Given the description of an element on the screen output the (x, y) to click on. 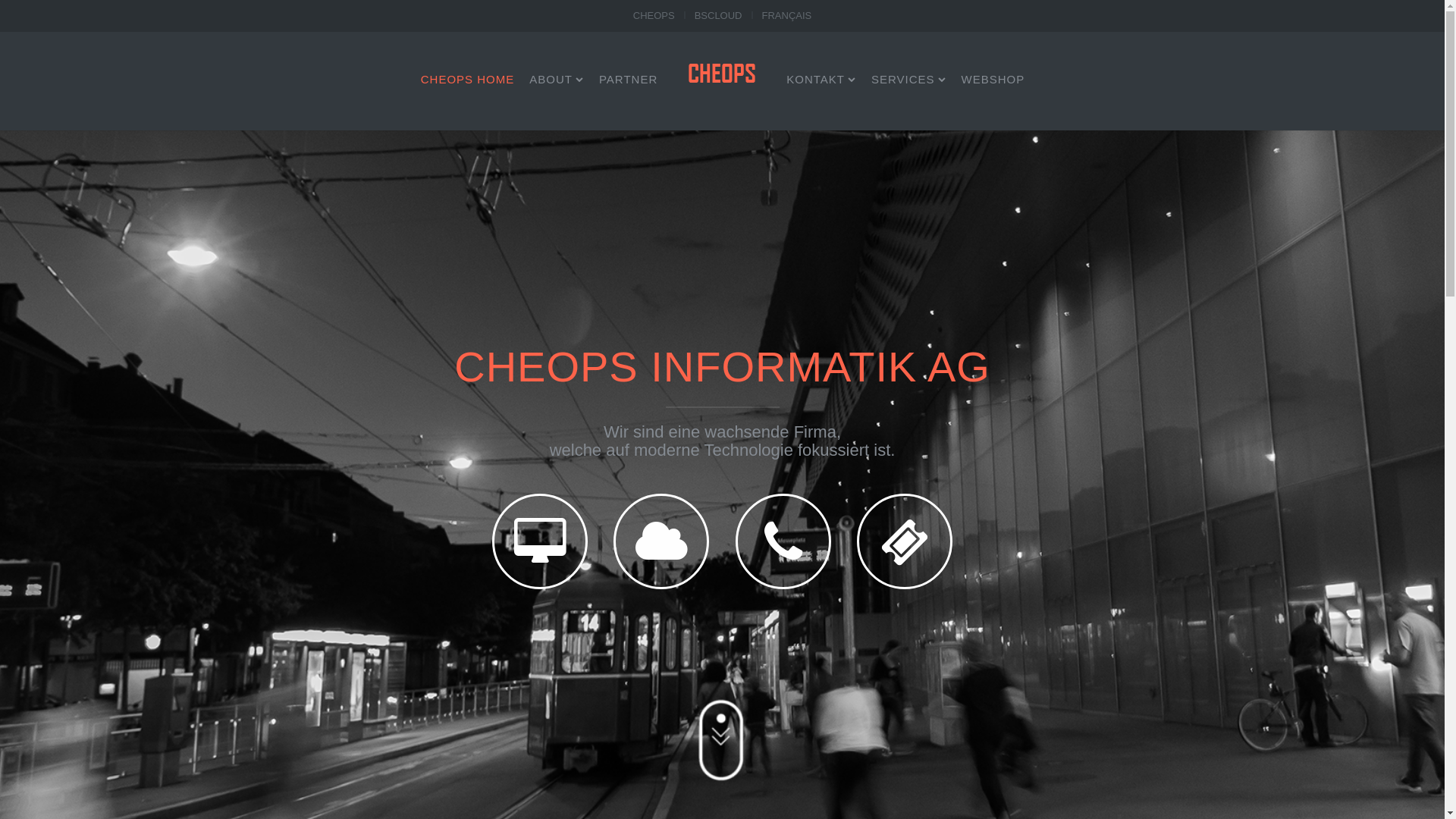
WEBSHOP Element type: text (992, 78)
CHEOPS HOME Element type: text (467, 78)
PARTNER Element type: text (628, 78)
CHEOPS Element type: text (653, 15)
SERVICES Element type: text (908, 78)
ABOUT Element type: text (556, 78)
BSCLOUD Element type: text (718, 15)
KONTAKT Element type: text (820, 78)
